Given the description of an element on the screen output the (x, y) to click on. 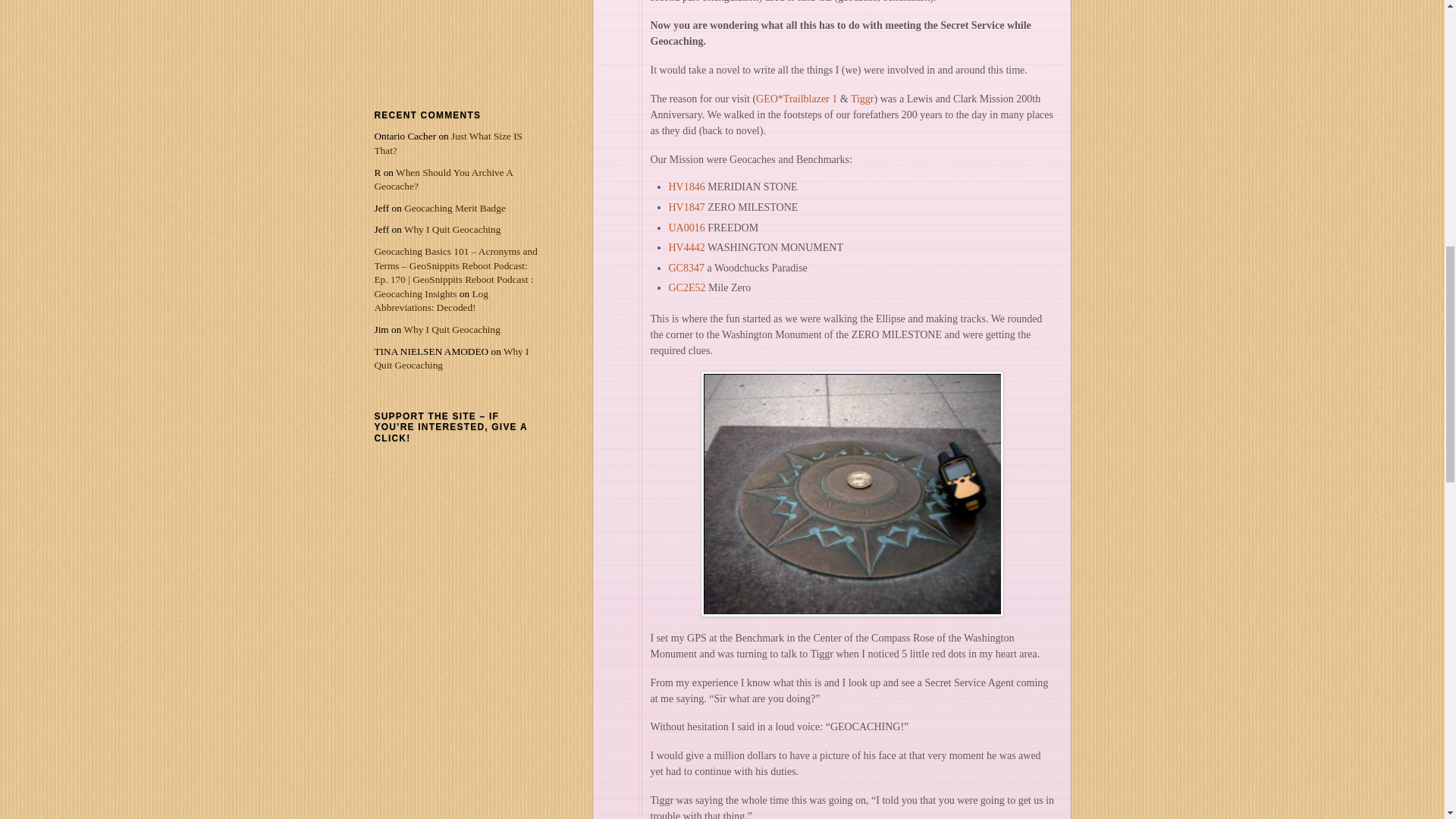
GC8347 (686, 267)
Tiggr (862, 98)
UA0016 (686, 227)
GC2E52 (687, 287)
011811-CompassRose (852, 494)
HV4442 (686, 247)
HV1846 (686, 186)
HV1847 (686, 206)
